Given the description of an element on the screen output the (x, y) to click on. 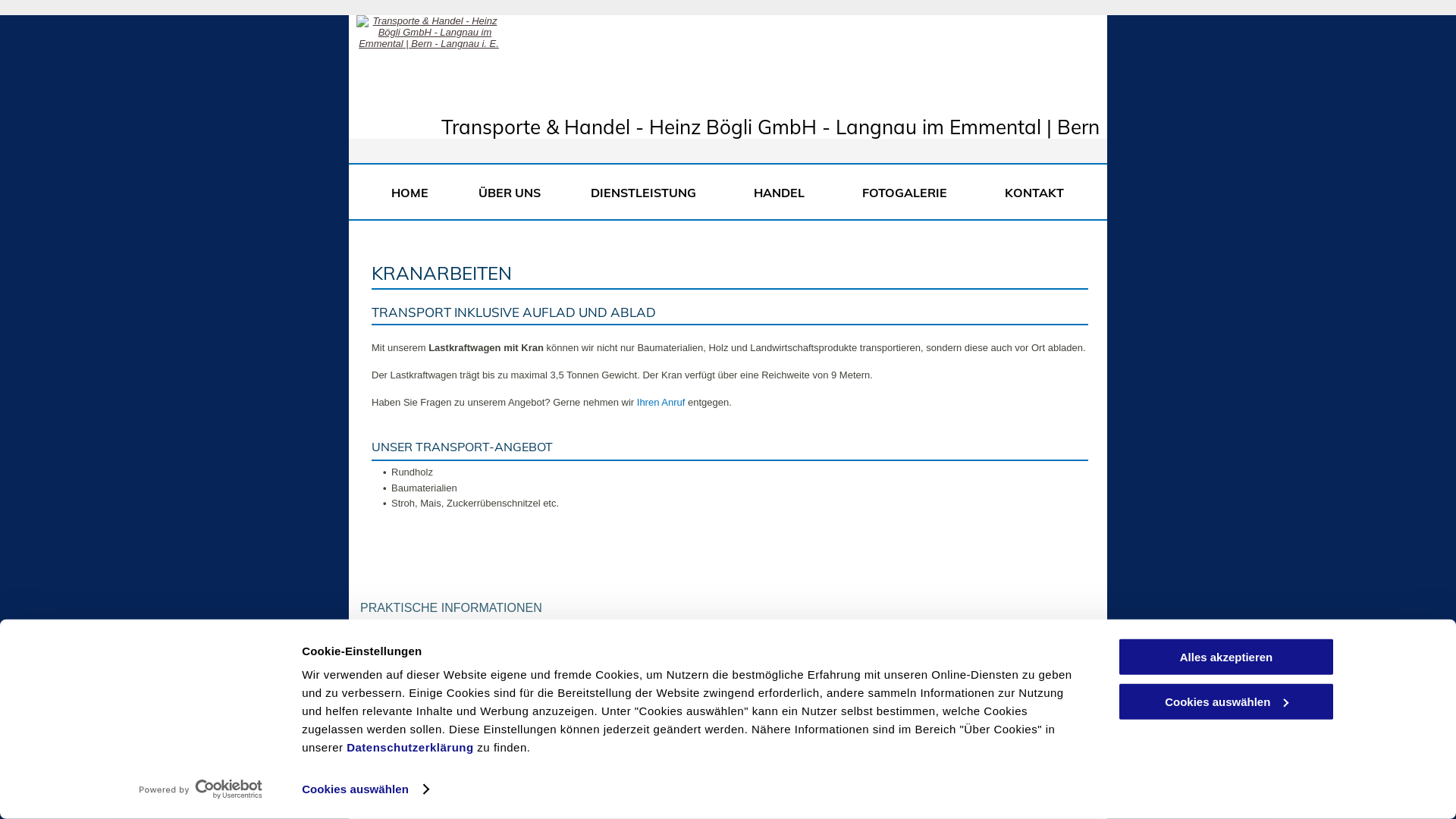
KONTAKT Element type: text (1033, 192)
079 210 14 61 Element type: text (438, 717)
HANDEL Element type: text (782, 192)
FOTOGALERIE Element type: text (908, 192)
DIENSTLEISTUNG Element type: text (646, 192)
Ihren Anruf Element type: text (661, 401)
034 402 12 38 Element type: text (438, 645)
Alles akzeptieren Element type: text (1225, 656)
HOME Element type: text (409, 192)
